Given the description of an element on the screen output the (x, y) to click on. 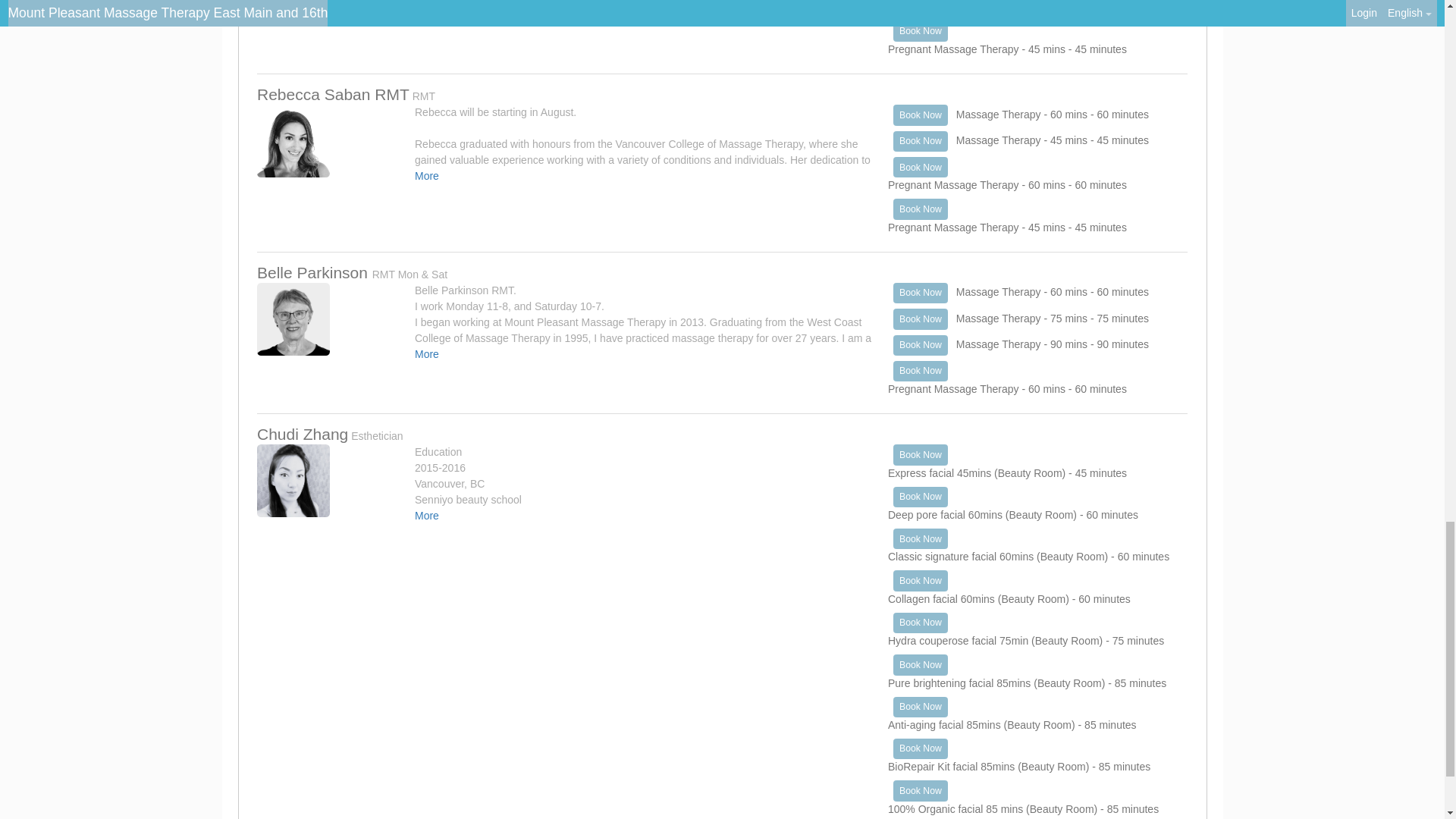
More (426, 175)
Book Now (920, 114)
Book Now (920, 141)
Book Now (920, 31)
